Given the description of an element on the screen output the (x, y) to click on. 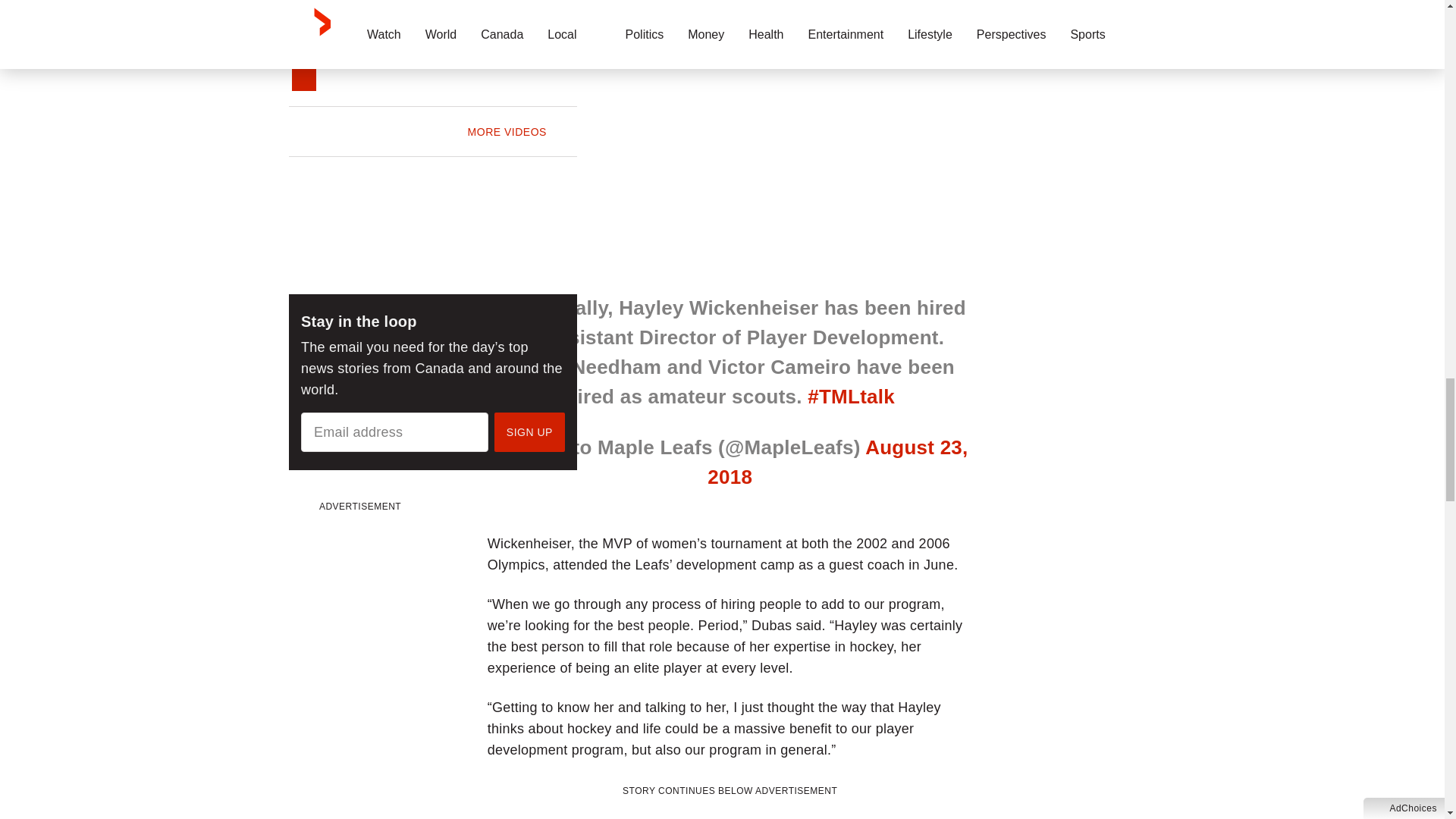
BC Tree Fruits ceasing operations (496, 35)
